Given the description of an element on the screen output the (x, y) to click on. 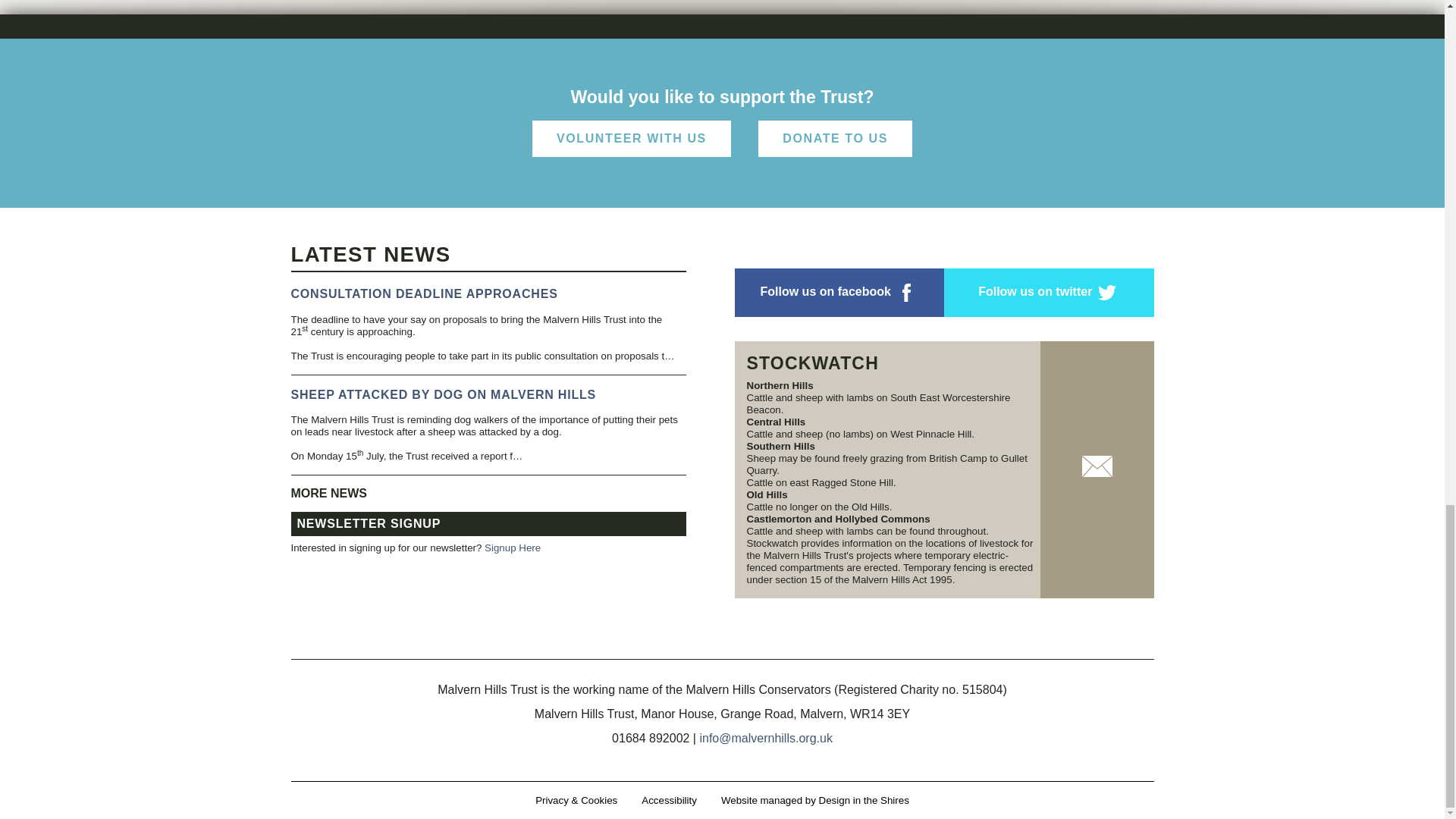
Signup for Stockwatch updates (1097, 469)
Accessibility (669, 799)
